Given the description of an element on the screen output the (x, y) to click on. 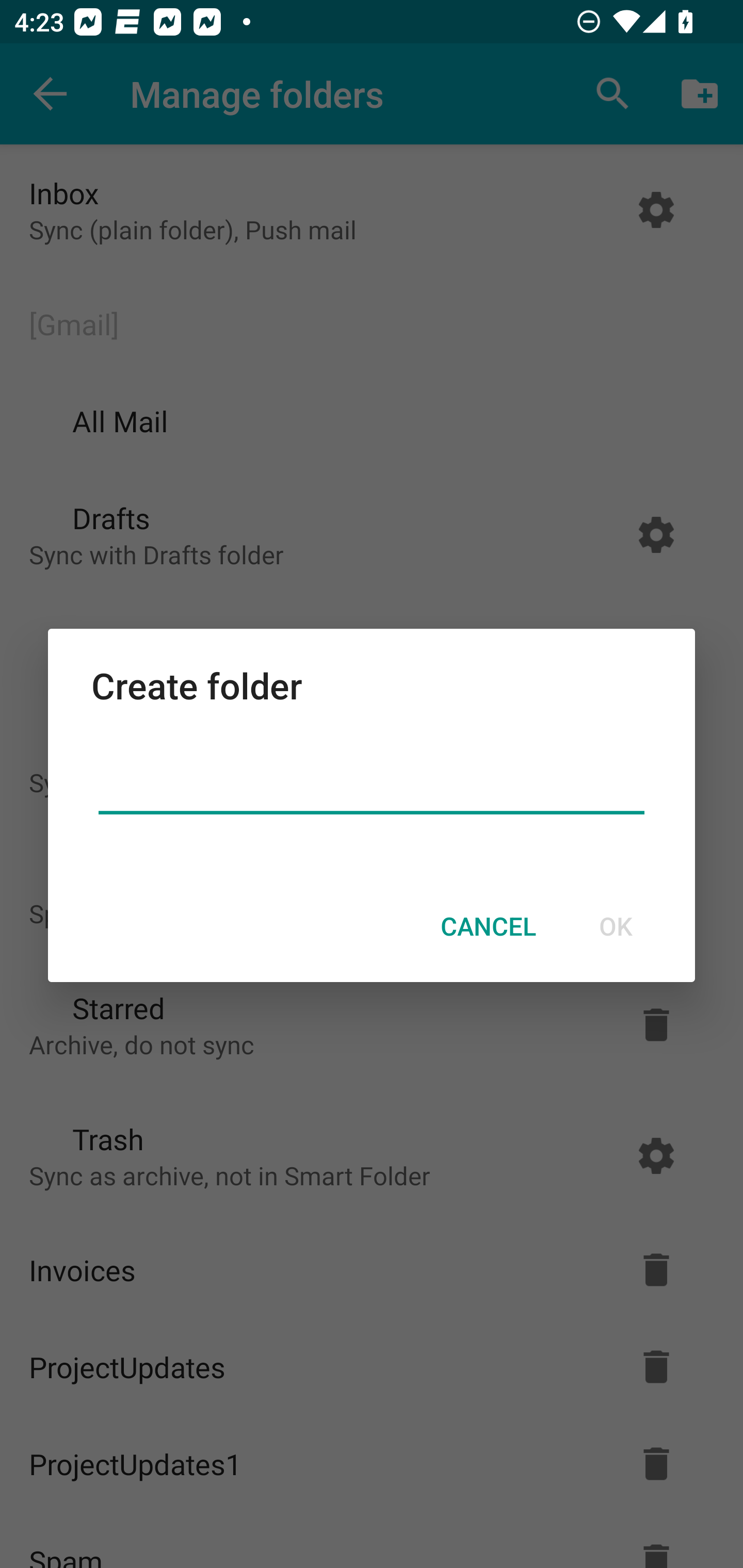
CANCEL (488, 926)
OK (615, 926)
